Given the description of an element on the screen output the (x, y) to click on. 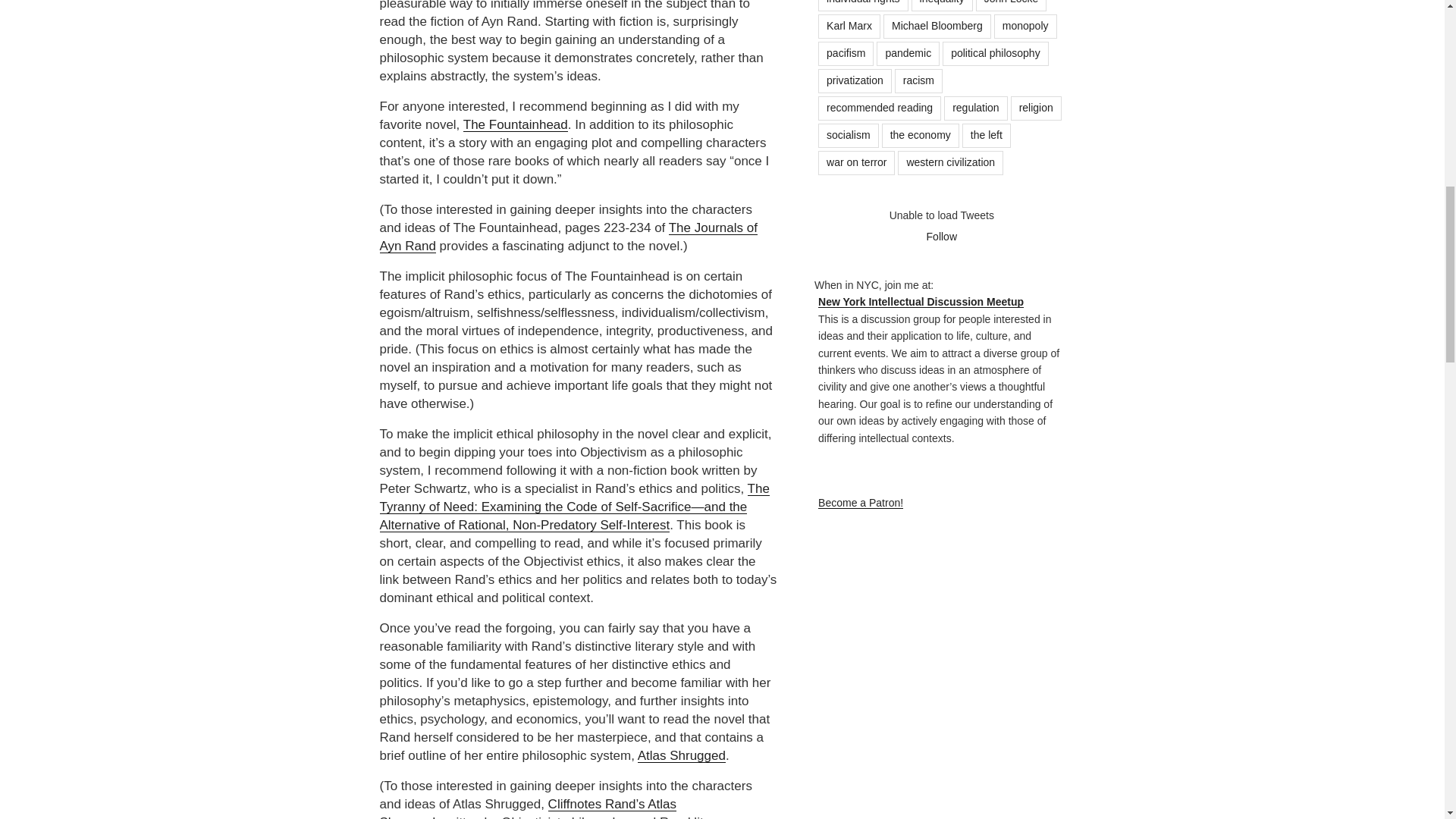
The Fountainhead (515, 124)
The Journals of Ayn Rand (567, 236)
Atlas Shrugged (681, 754)
